Given the description of an element on the screen output the (x, y) to click on. 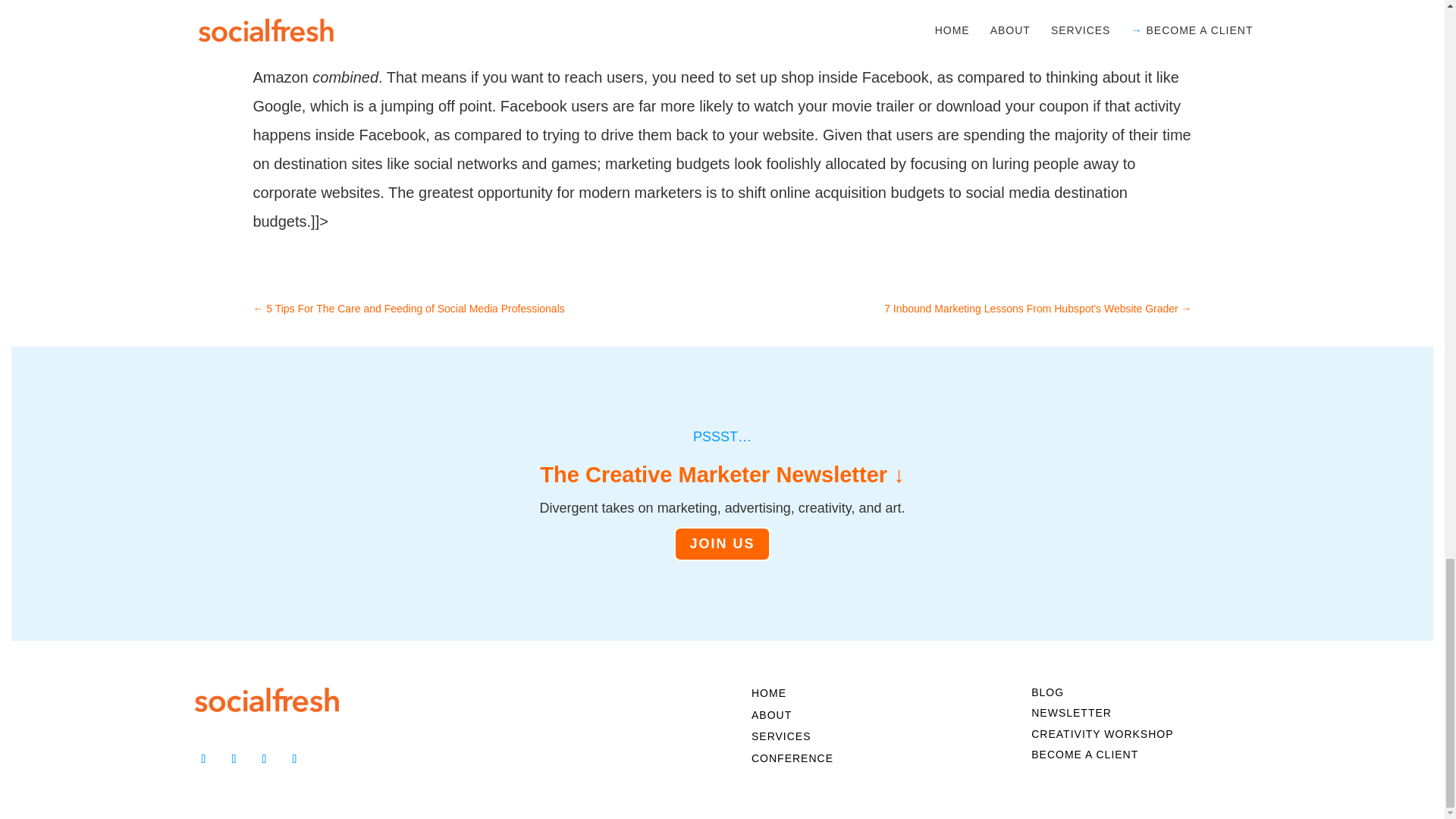
BECOME A CLIENT (1084, 757)
CONFERENCE (791, 761)
JOIN US (722, 544)
ABOUT (771, 718)
Follow on LinkedIn (202, 758)
HOME (768, 696)
Follow on TikTok (293, 758)
Social Fresh logo (266, 699)
Follow on Instagram (263, 758)
SERVICES (780, 739)
